Given the description of an element on the screen output the (x, y) to click on. 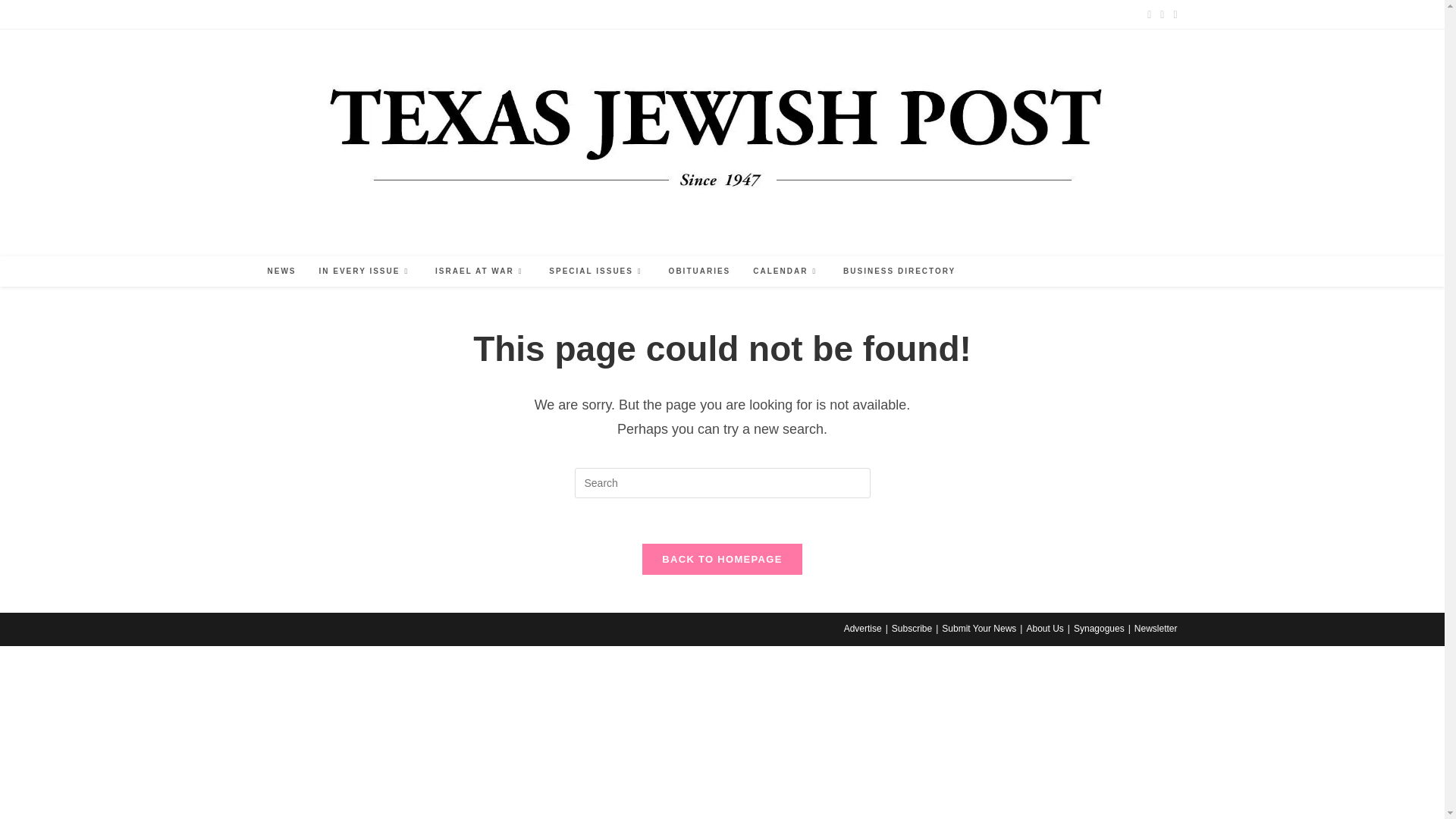
About Us (473, 13)
ISRAEL AT WAR (480, 271)
OBITUARIES (700, 271)
Subscribe (336, 13)
IN EVERY ISSUE (366, 271)
Synagogues (527, 13)
Newsletter (586, 13)
BUSINESS DIRECTORY (898, 271)
NEWS (281, 271)
Advertise (285, 13)
